Given the description of an element on the screen output the (x, y) to click on. 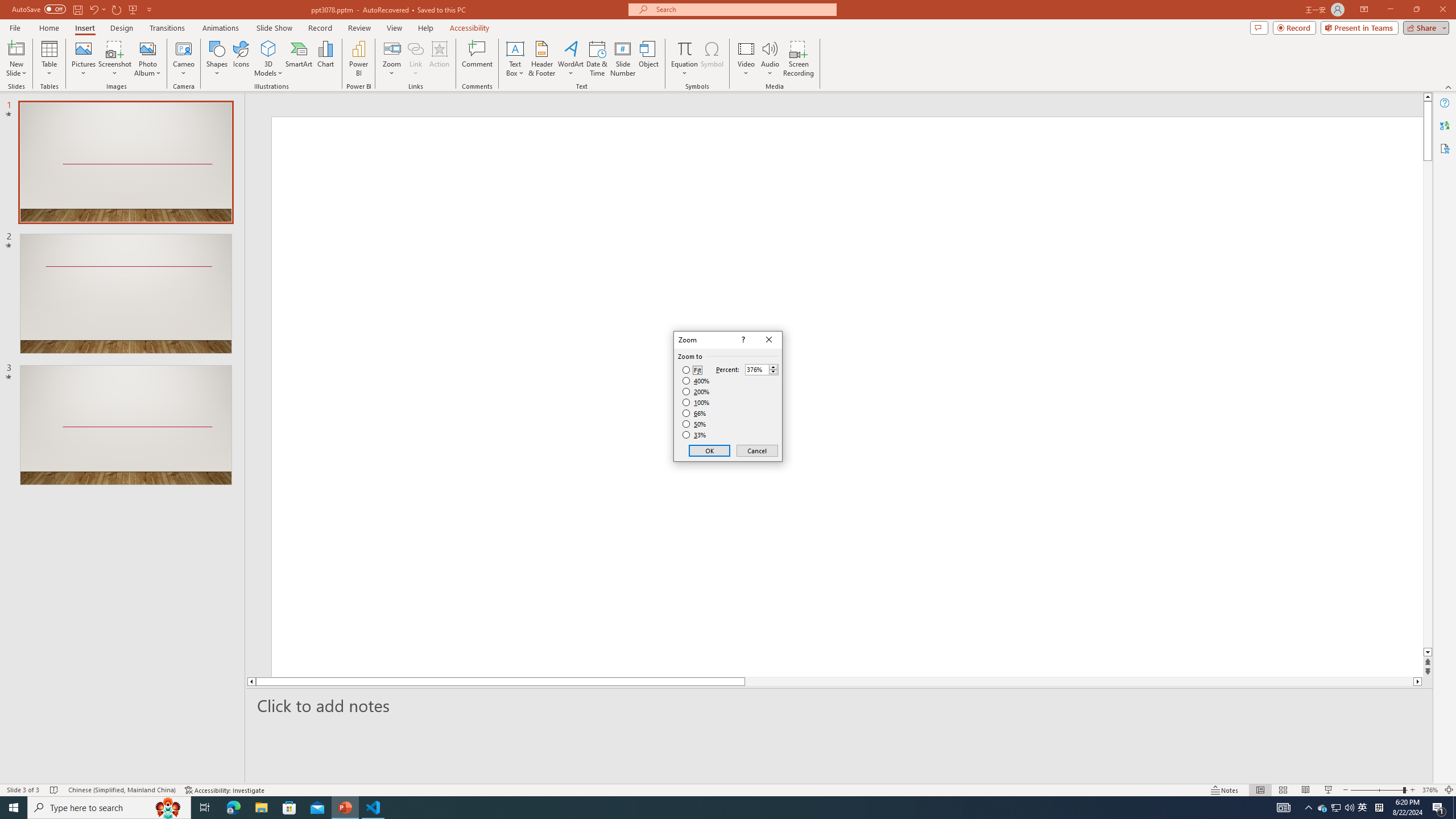
OK (709, 450)
Zoom 376% (1430, 790)
Photo Album... (147, 58)
66% (694, 412)
